Given the description of an element on the screen output the (x, y) to click on. 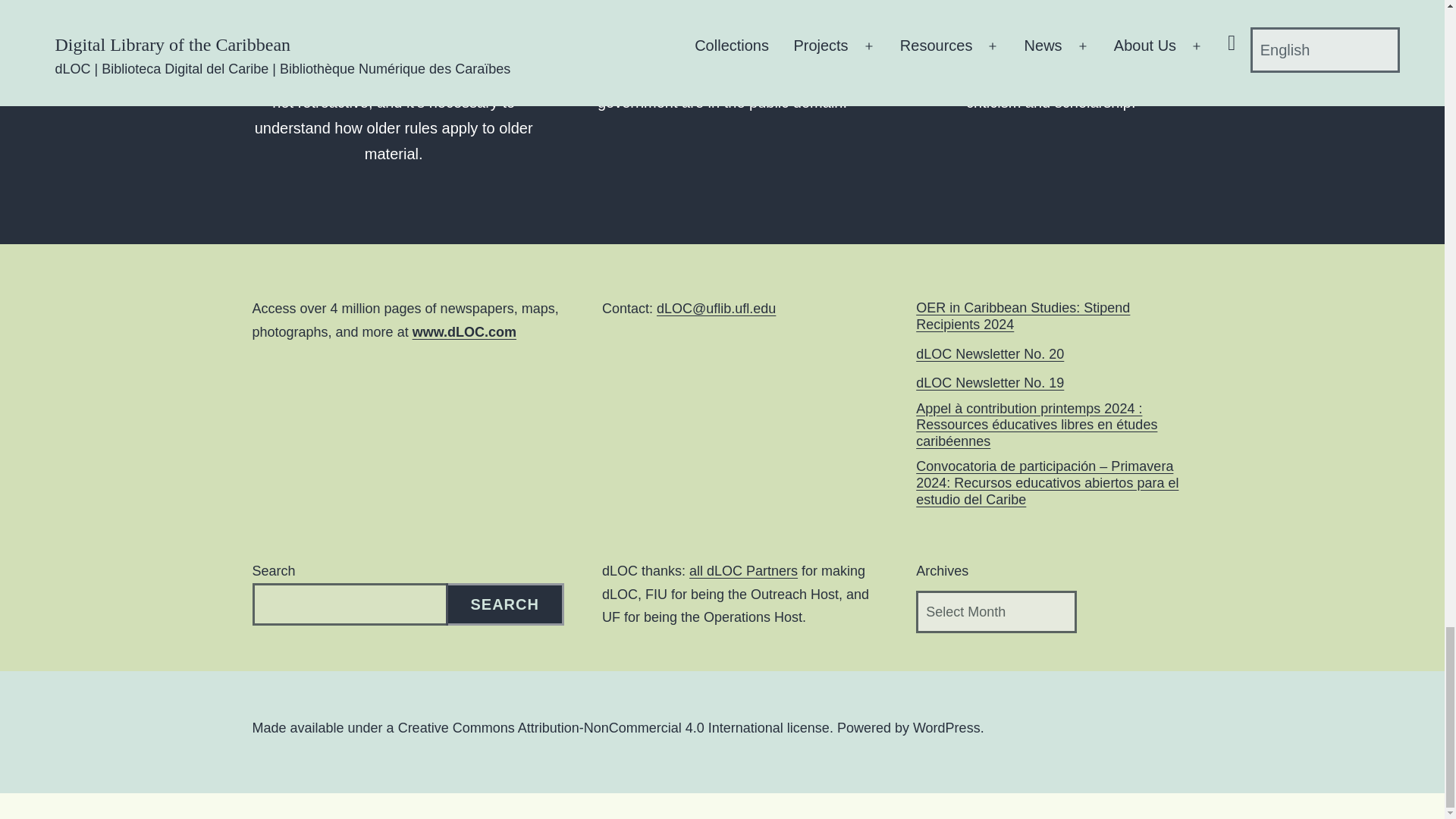
OER in Caribbean Studies: Stipend Recipients 2024 (1053, 316)
SEARCH (504, 604)
dLOC Newsletter No. 19 (989, 383)
www.dLOC.com (464, 331)
all dLOC Partners (742, 570)
dLOC Newsletter No. 20 (989, 354)
